Given the description of an element on the screen output the (x, y) to click on. 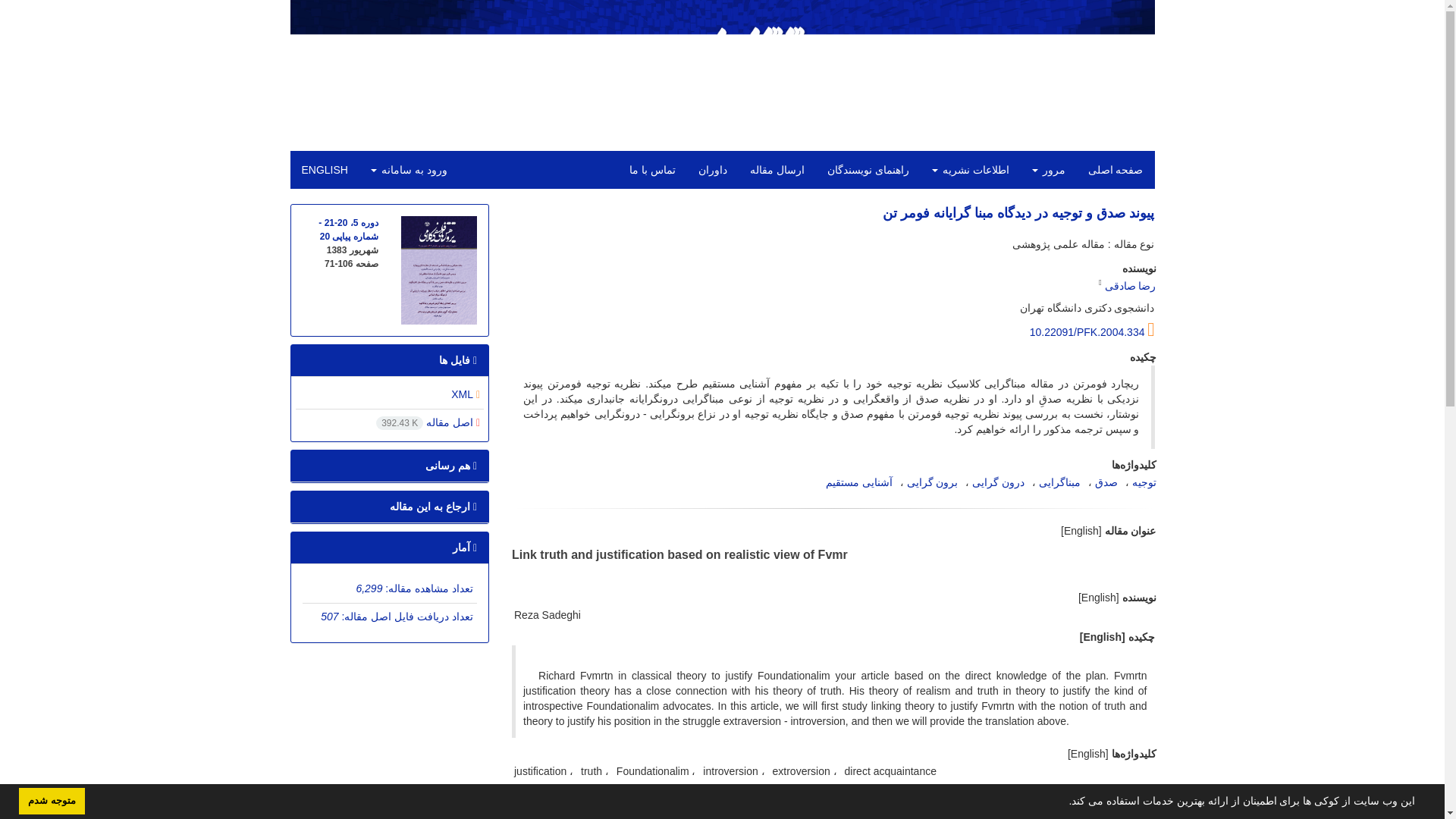
ENGLISH (323, 169)
